Given the description of an element on the screen output the (x, y) to click on. 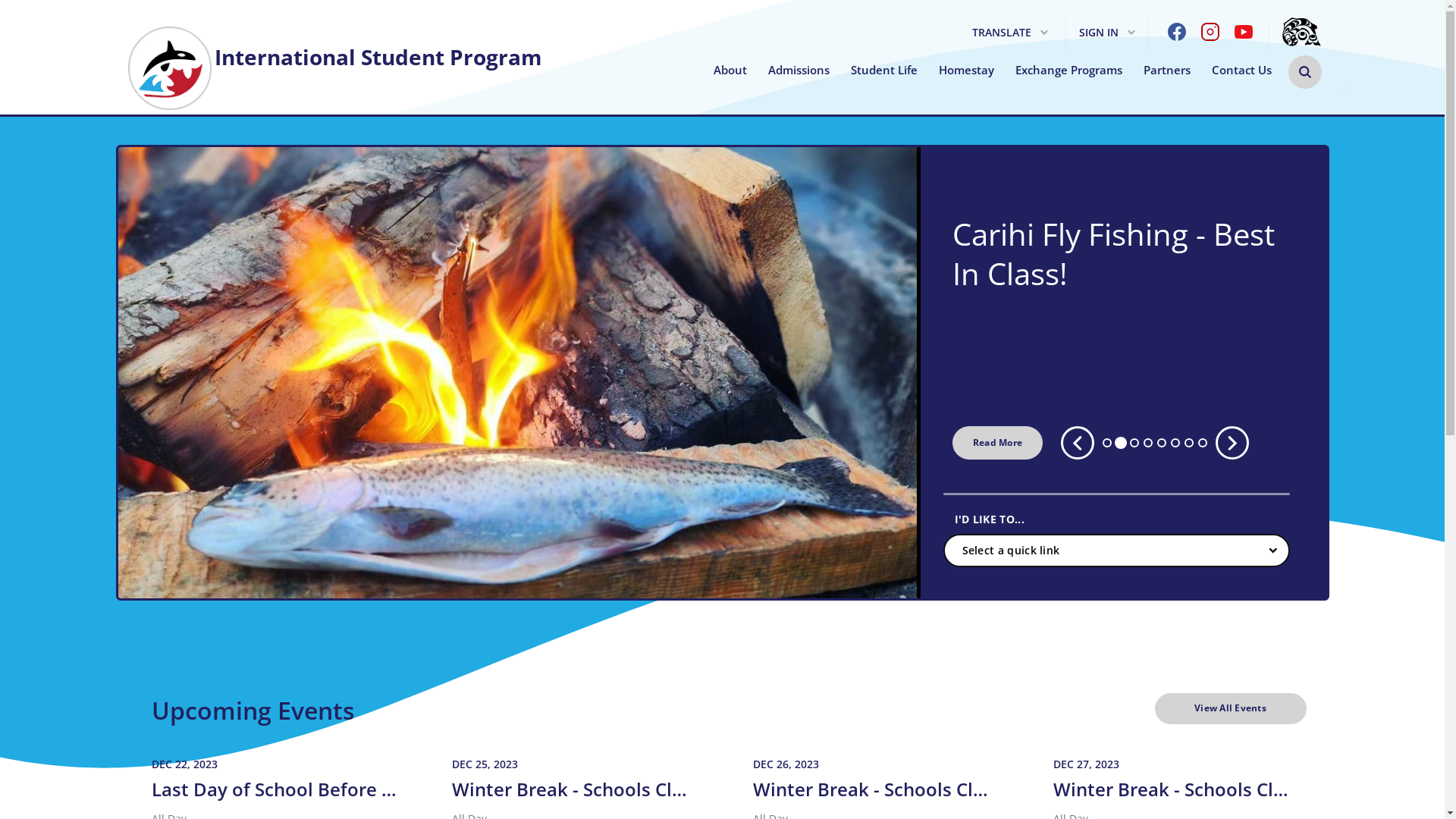
7 Element type: text (1188, 442)
Search Opener Element type: text (1304, 71)
SIGN IN Element type: text (1106, 32)
View All Events Element type: text (1229, 708)
Partners Element type: text (1166, 69)
Homestay Element type: text (966, 69)
Exchange Programs Element type: text (1067, 69)
Student Life Element type: text (883, 69)
5 Element type: text (1161, 442)
1 Element type: text (1106, 442)
Admissions Element type: text (797, 69)
3 Element type: text (1134, 442)
Carihi Fly Fishing - Best In Class! Element type: text (1124, 253)
4 Element type: text (1147, 442)
Contact Us Element type: text (1241, 69)
TRANSLATE Element type: text (1010, 32)
About Element type: text (729, 69)
Select a quick link Element type: text (1116, 550)
International Student Program Element type: text (333, 49)
2 Element type: text (1120, 442)
6 Element type: text (1174, 442)
Read More Element type: text (997, 442)
8 Element type: text (1202, 442)
